Given the description of an element on the screen output the (x, y) to click on. 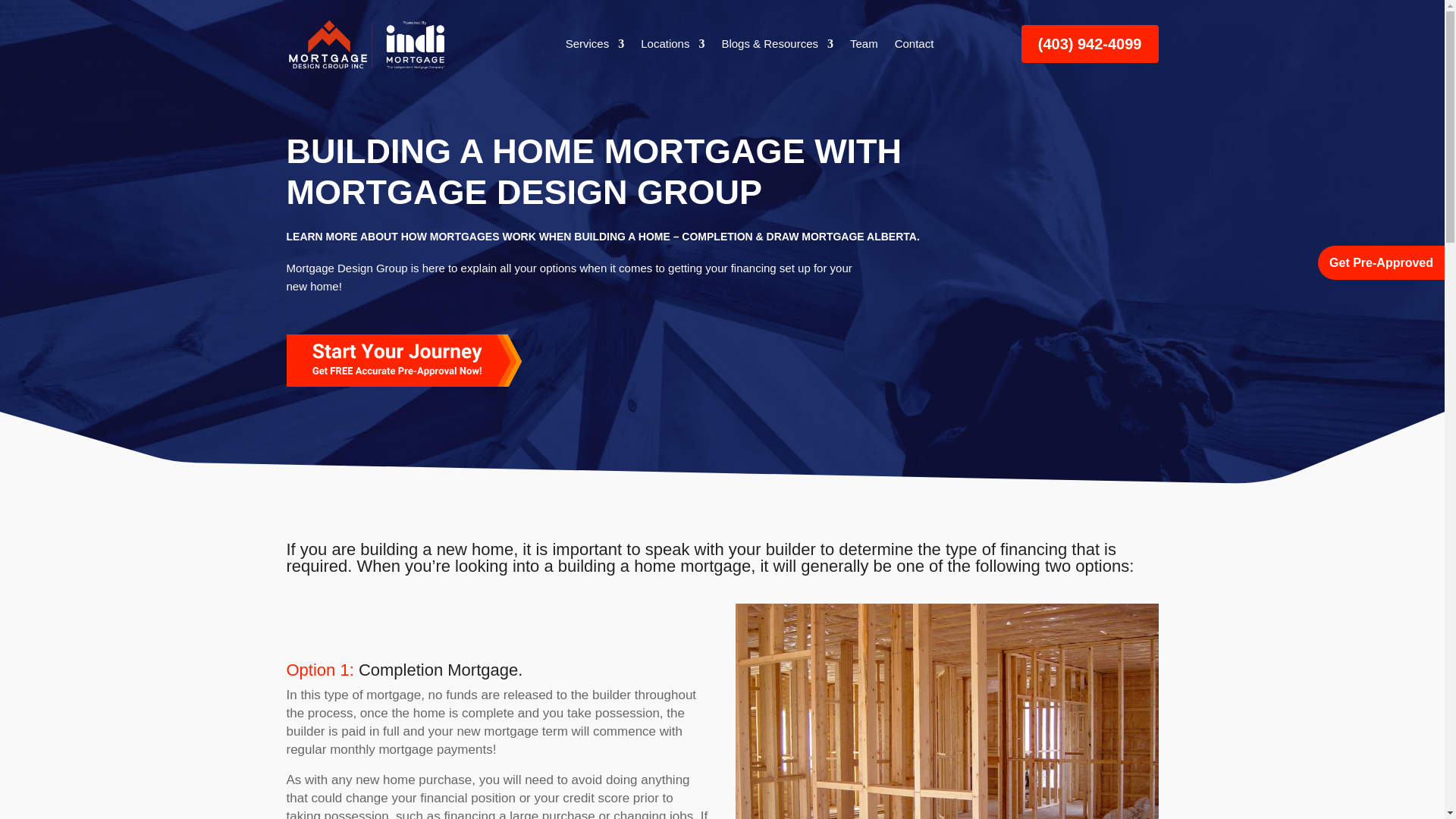
Locations (672, 43)
Services (595, 43)
Build Home Mortgage (946, 711)
Building a Home Mortgage 1 (404, 354)
